Given the description of an element on the screen output the (x, y) to click on. 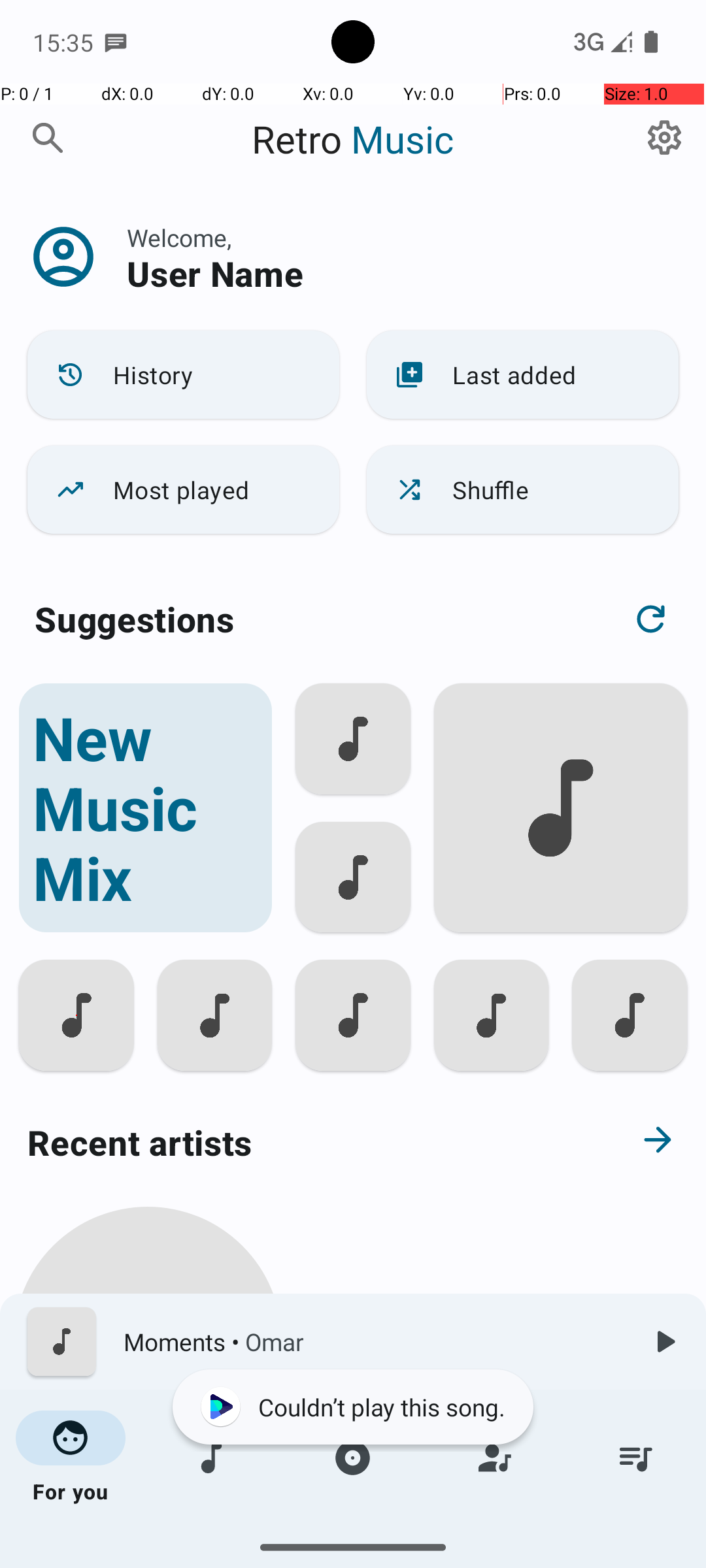
Moments • Omar Element type: android.widget.TextView (372, 1341)
Thomas Element type: android.widget.TextView (147, 1503)
